Given the description of an element on the screen output the (x, y) to click on. 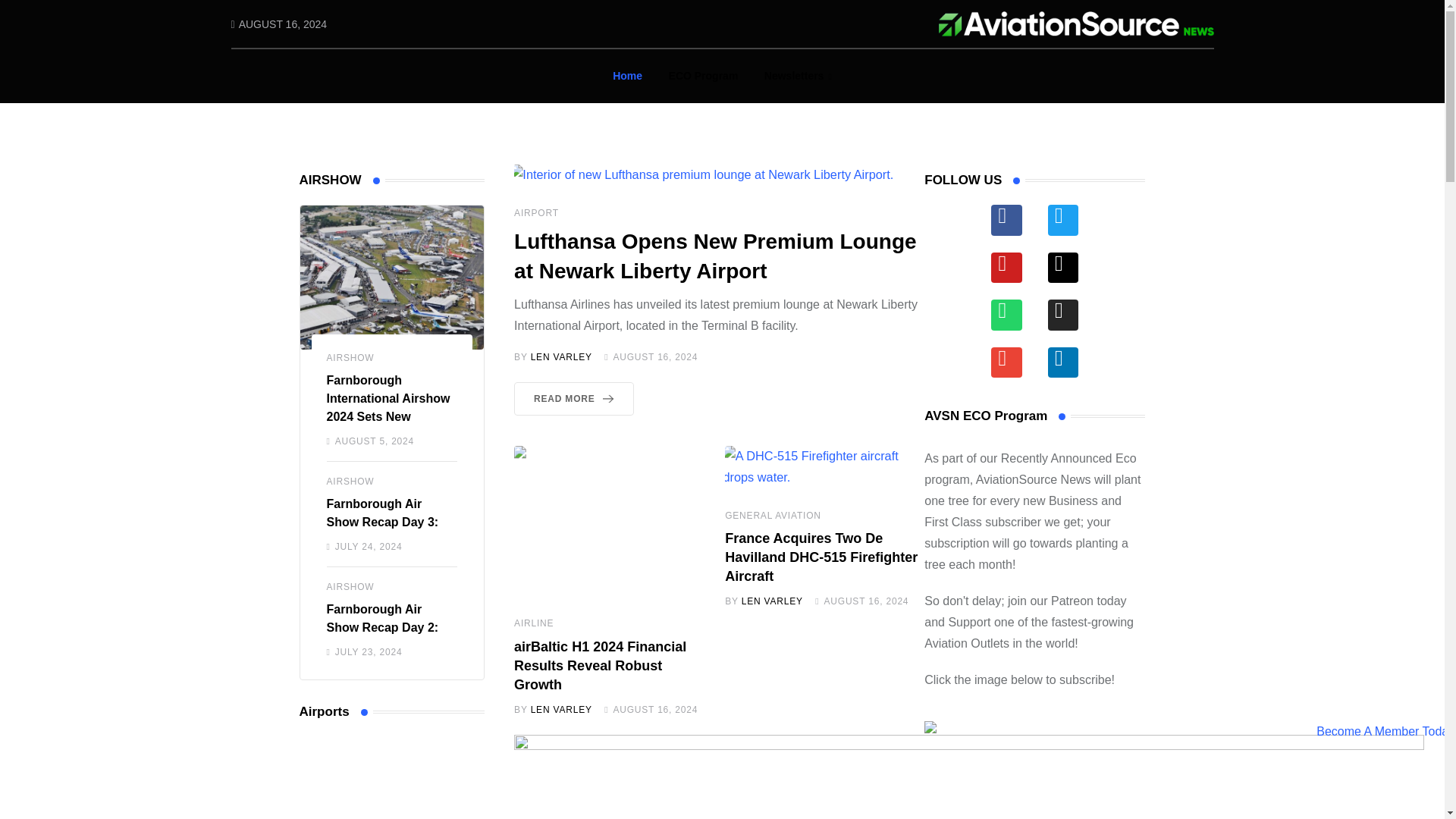
READ MORE (573, 398)
AIRLINE (533, 623)
AIRSHOW (350, 481)
Lufthansa Opens New Premium Lounge at Newark Liberty Airport (715, 256)
Farnborough International Airshow 2024 Sets New (387, 398)
Farnborough Air Show Recap Day 3: (382, 512)
Posts by Len Varley (561, 709)
AIRPORT (536, 212)
Home (627, 75)
AIRSHOW (350, 586)
